Given the description of an element on the screen output the (x, y) to click on. 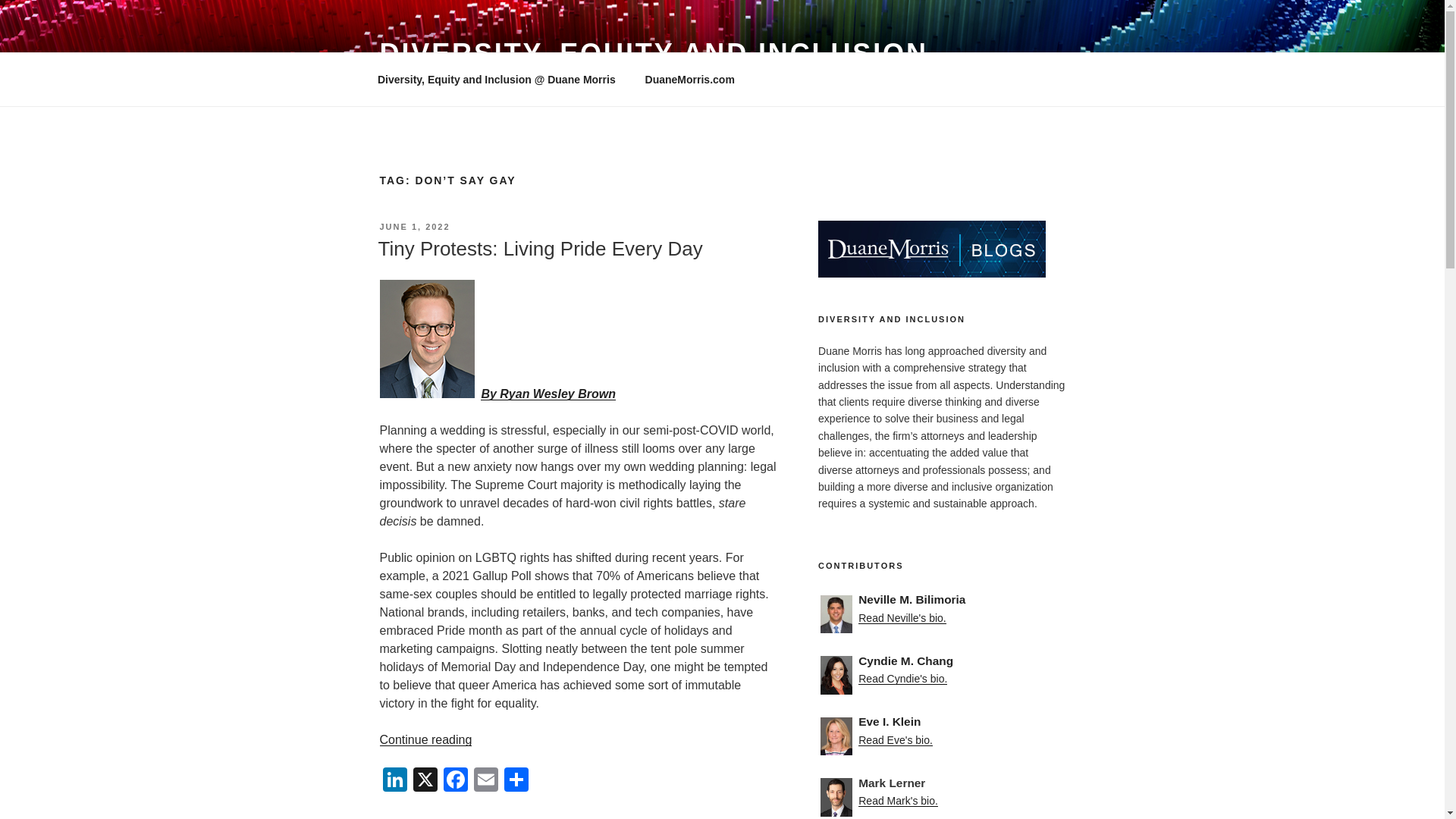
Eve I. Klein (941, 722)
JUNE 1, 2022 (413, 225)
Share (515, 781)
Read Neville's bio. (902, 617)
Neville M. Bilimoria (941, 599)
Facebook (454, 781)
LinkedIn (393, 781)
  By Ryan Wesley Brown (496, 393)
DIVERSITY, EQUITY AND INCLUSION (652, 52)
Click to return to the Duane Morris Blogs home page. (931, 248)
Email (485, 781)
Eve I. Klein (941, 722)
Cyndie M. Chang (941, 660)
Read Cyndie's bio. (903, 678)
Duane Morris LLP firm website (689, 78)
